Given the description of an element on the screen output the (x, y) to click on. 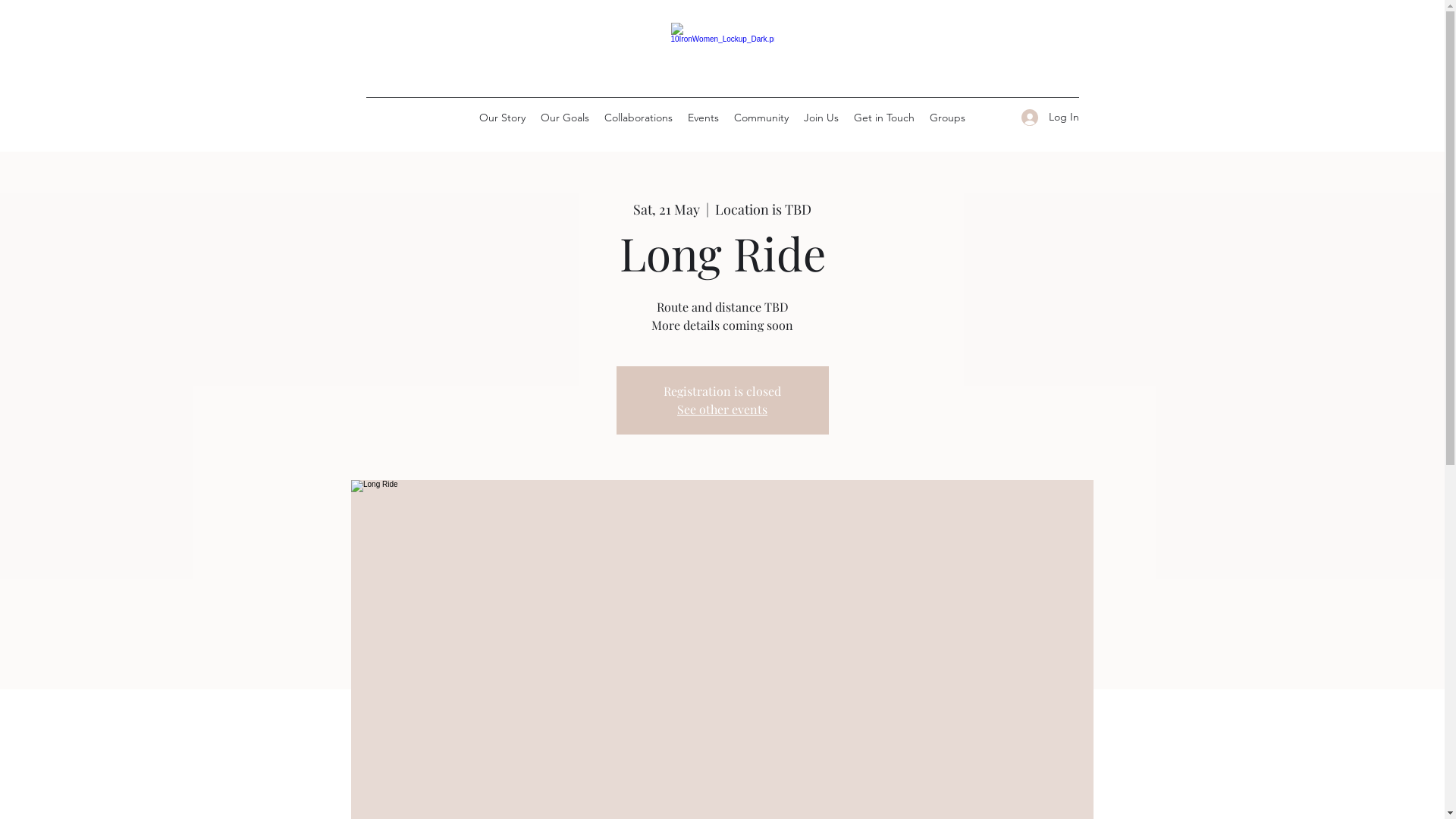
Get in Touch Element type: text (884, 117)
Our Goals Element type: text (564, 117)
Events Element type: text (703, 117)
Collaborations Element type: text (638, 117)
Community Element type: text (761, 117)
Log In Element type: text (1044, 117)
Our Story Element type: text (502, 117)
See other events Element type: text (722, 409)
Groups Element type: text (947, 117)
Join Us Element type: text (821, 117)
